Given the description of an element on the screen output the (x, y) to click on. 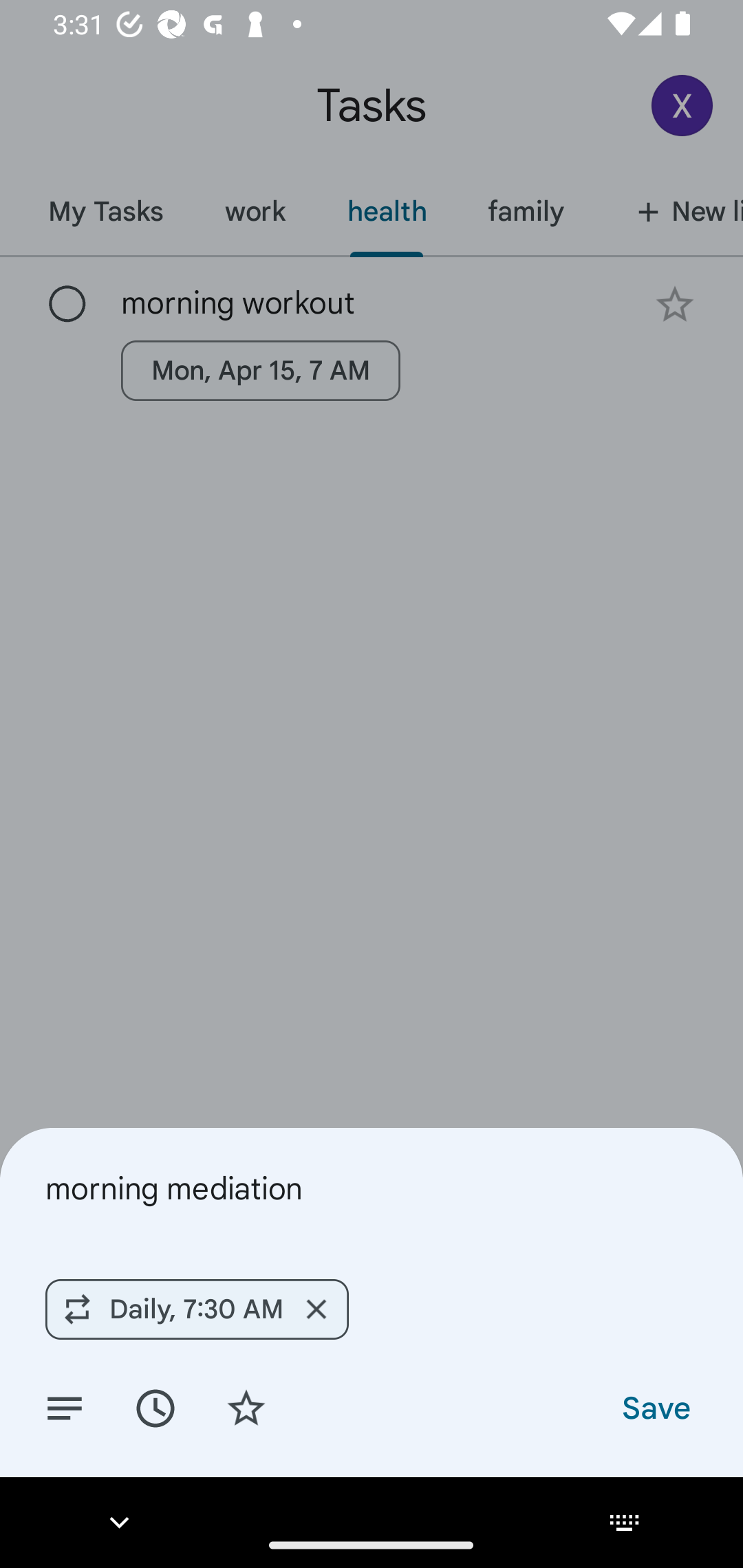
morning mediation (371, 1188)
Daily, 7:30 AM Remove Daily, 7:30 AM (196, 1308)
Save (655, 1407)
Add details (64, 1407)
Set date/time (154, 1407)
Add star (245, 1407)
